Given the description of an element on the screen output the (x, y) to click on. 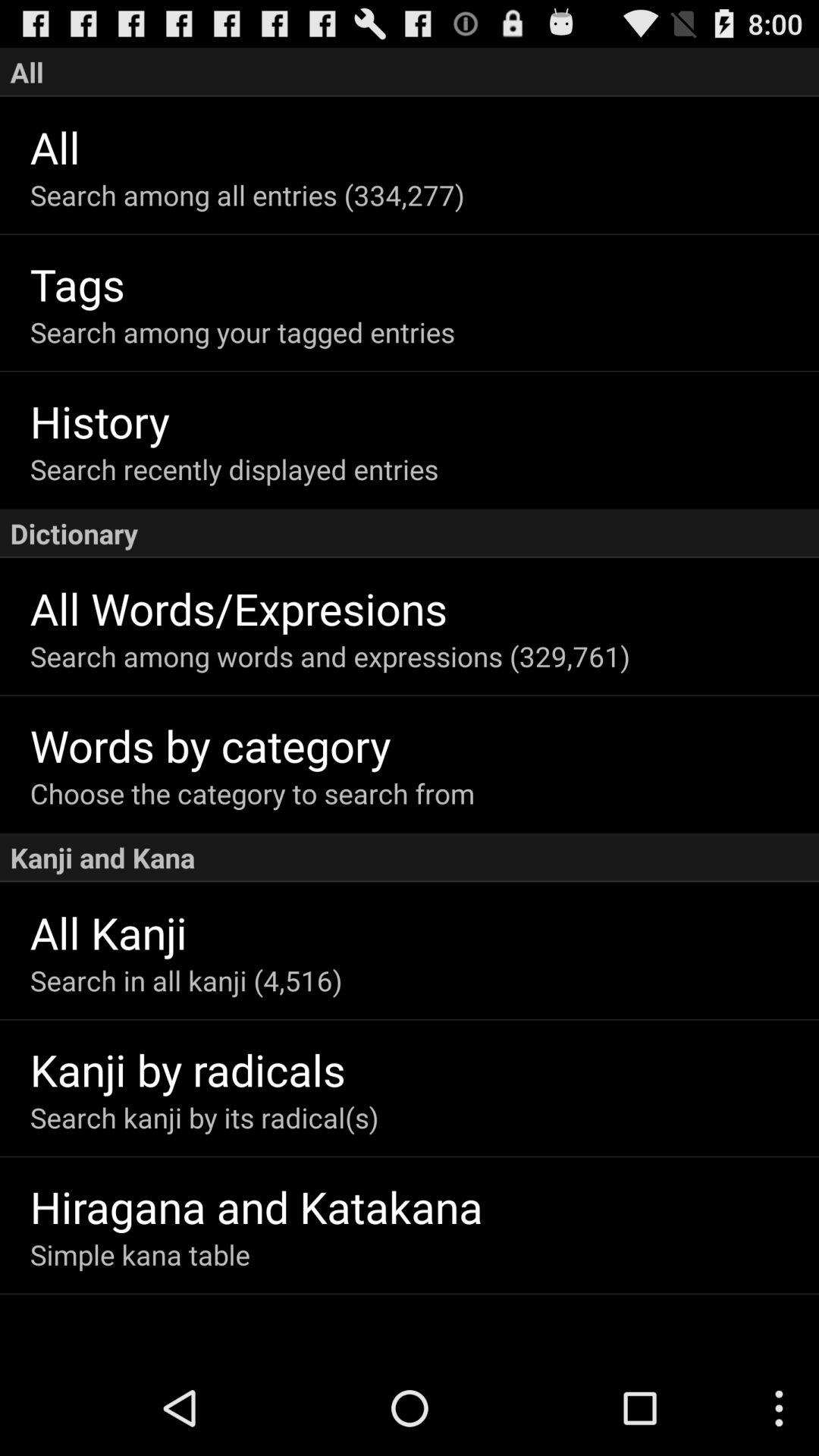
turn on item below the search kanji by (424, 1206)
